Given the description of an element on the screen output the (x, y) to click on. 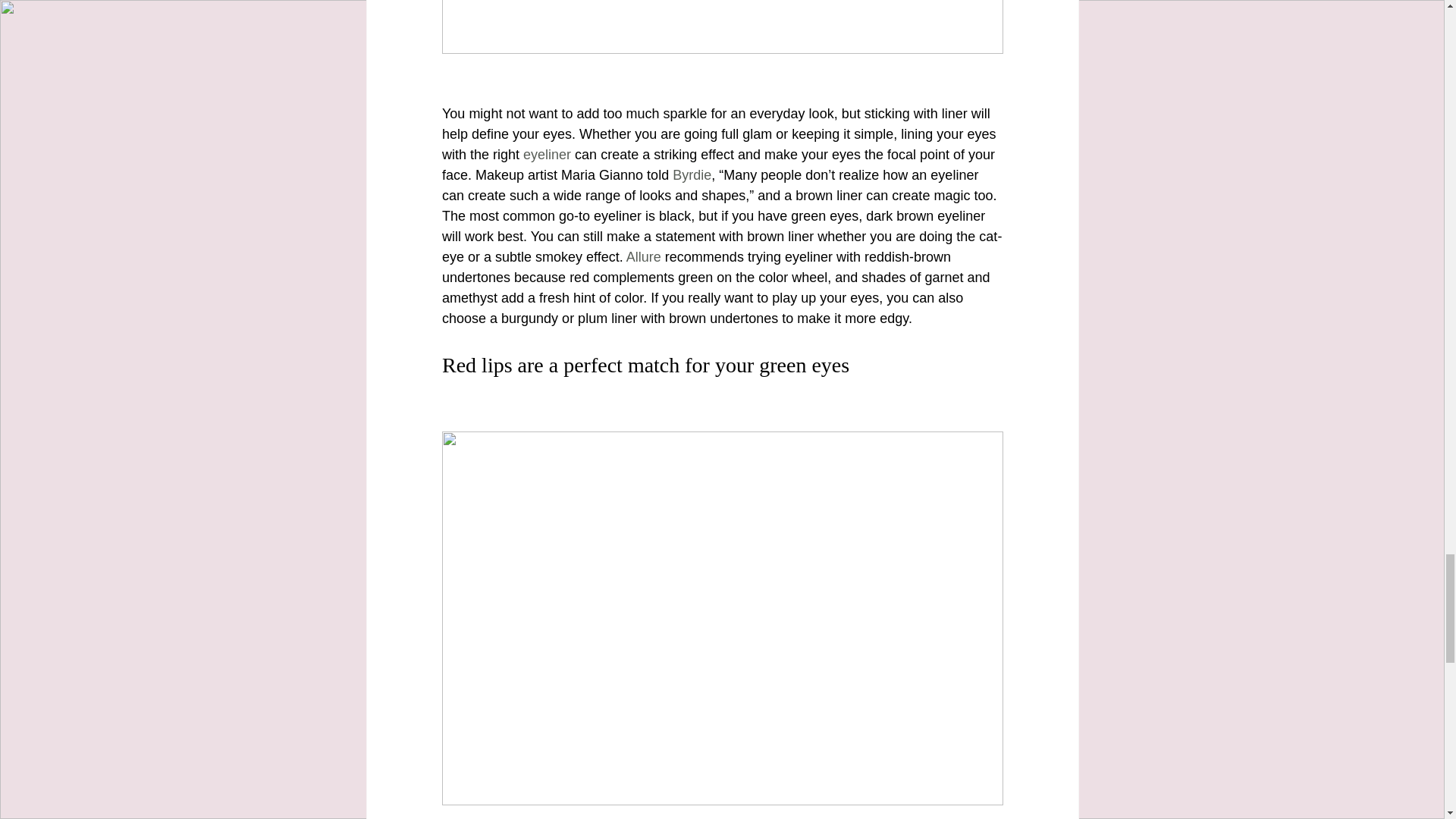
eyeliner (546, 154)
Byrdie (691, 174)
Allure (643, 256)
